Given the description of an element on the screen output the (x, y) to click on. 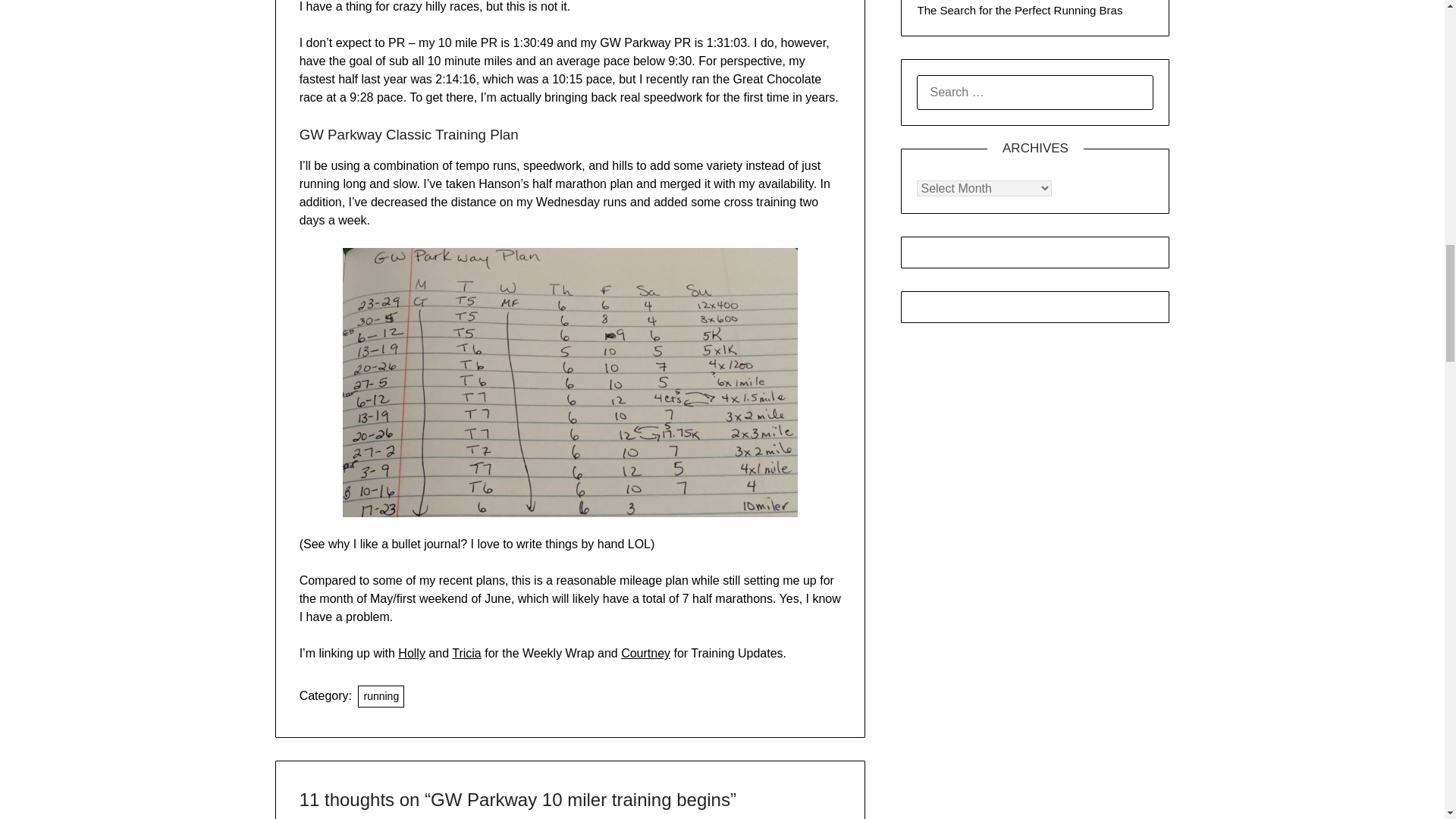
Tricia (466, 653)
running (381, 696)
Holly (411, 653)
Courtney (645, 653)
